Given the description of an element on the screen output the (x, y) to click on. 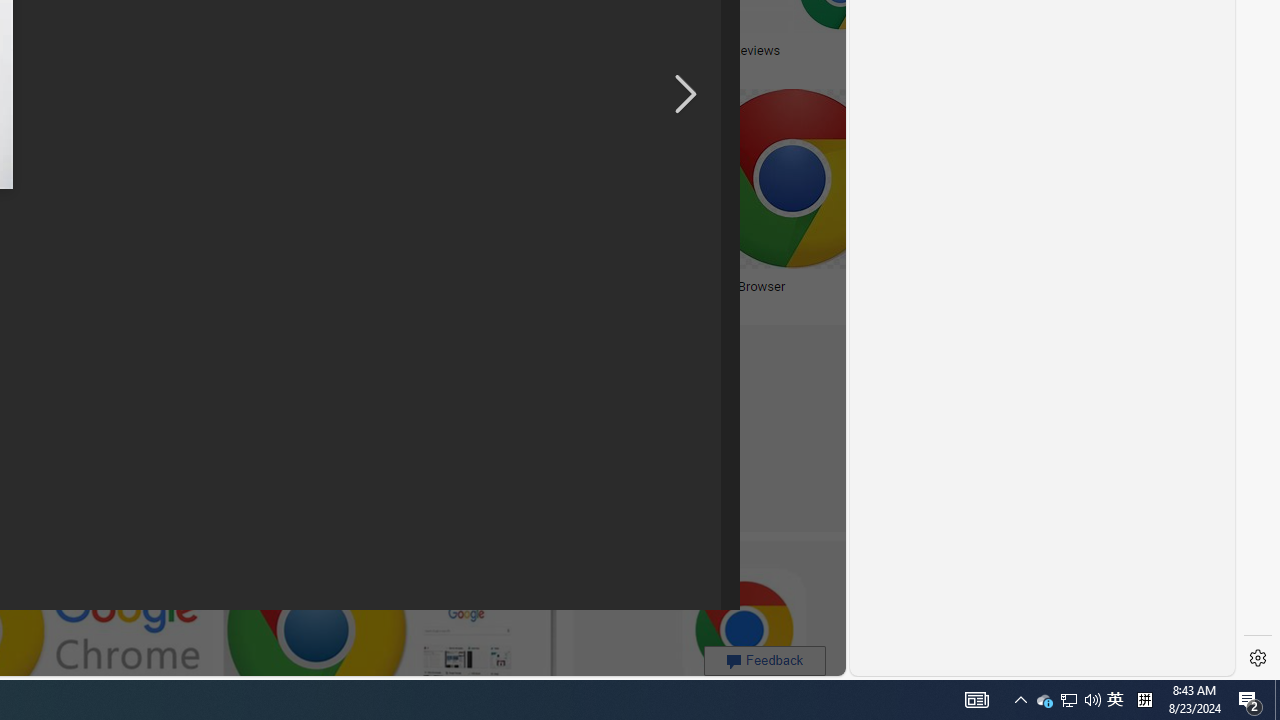
Image result for Google Chrome Internet Browser Download (791, 179)
Google Chrome Review | Top Ten Reviews (707, 50)
Lambang ChromeSave (216, 202)
The latest version of google chrome free download - gaimacro (443, 56)
Google Chrome Review | Top Ten Reviews (660, 50)
Image result for Google Chrome Internet Browser Download (540, 179)
What Is The Fastest Browser To Use With Windows 10 (540, 294)
Chrome Browser (836, 286)
Chrome Browser (736, 286)
What Is The Fastest Browser To Use With Windows 10Save (544, 202)
Lambang Chrome (212, 286)
